Given the description of an element on the screen output the (x, y) to click on. 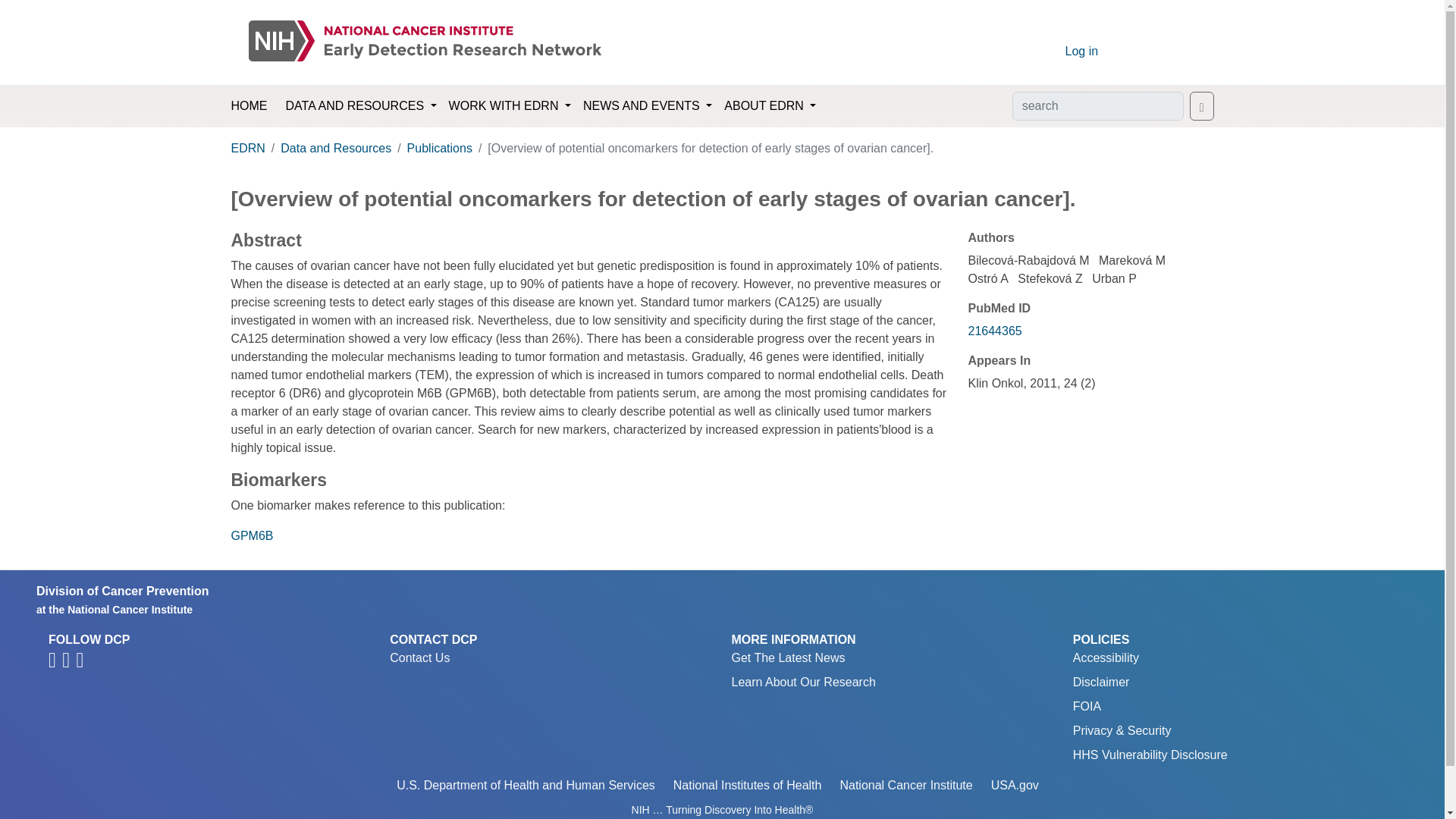
WORK WITH EDRN (509, 105)
NEWS AND EVENTS (646, 105)
DATA AND RESOURCES (360, 105)
ABOUT EDRN (769, 105)
Log in (1080, 51)
HOME (248, 105)
EDRN (247, 147)
